Given the description of an element on the screen output the (x, y) to click on. 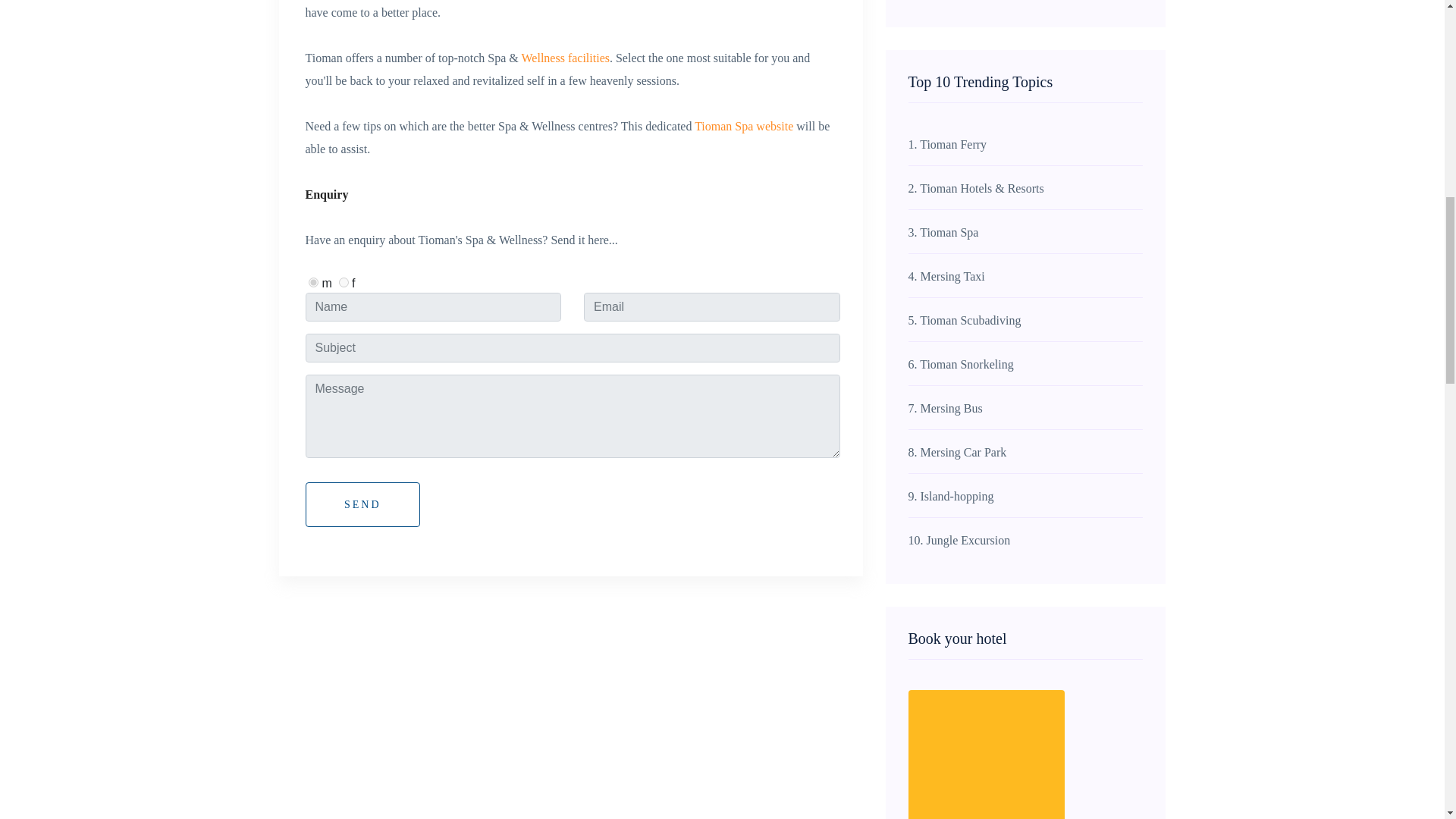
Mr. (313, 282)
Ms. (344, 282)
